Given the description of an element on the screen output the (x, y) to click on. 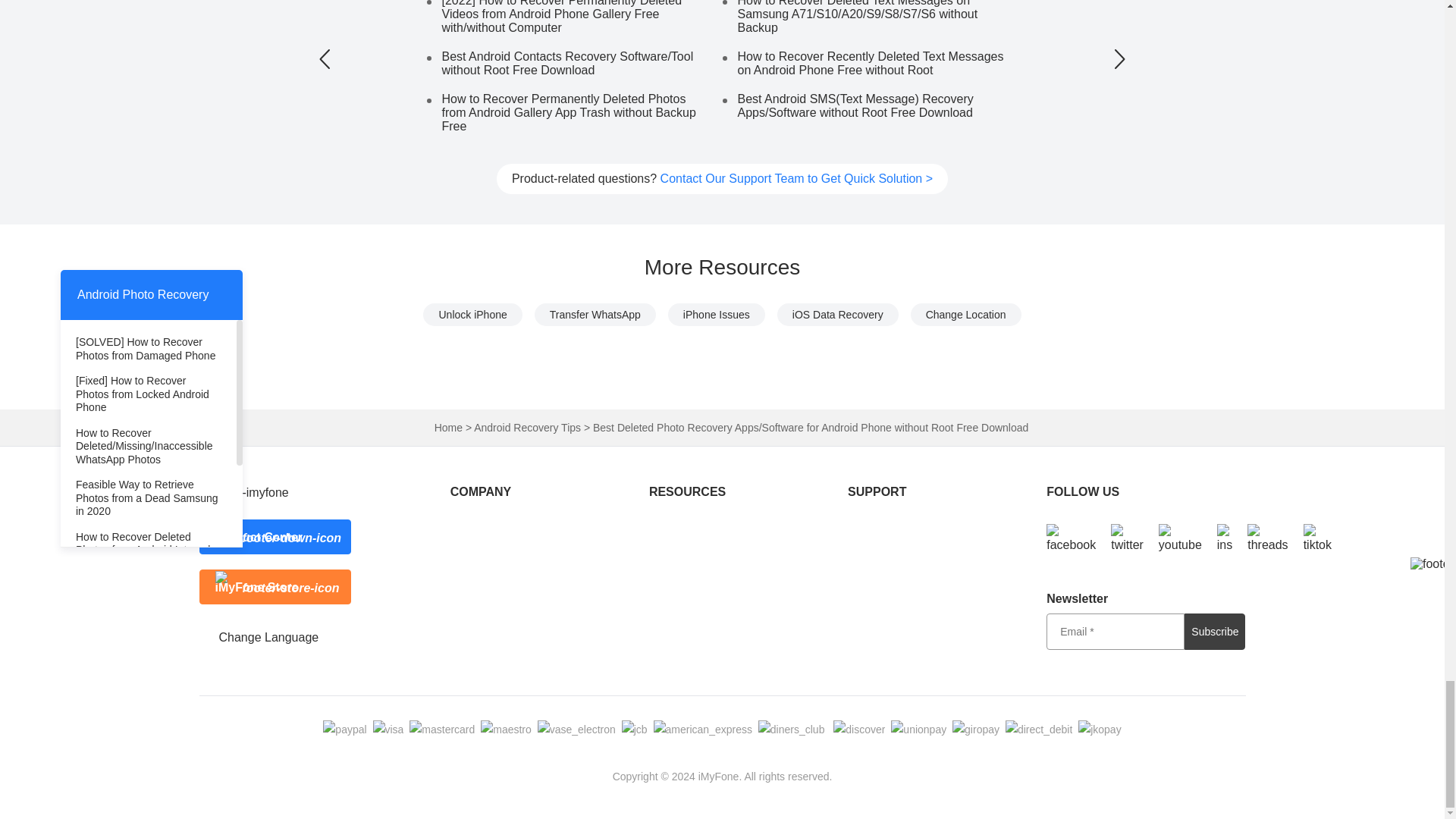
threads (1267, 539)
youtube (1180, 539)
tiktok (1317, 539)
twitter (1126, 539)
facebook (1071, 539)
